Given the description of an element on the screen output the (x, y) to click on. 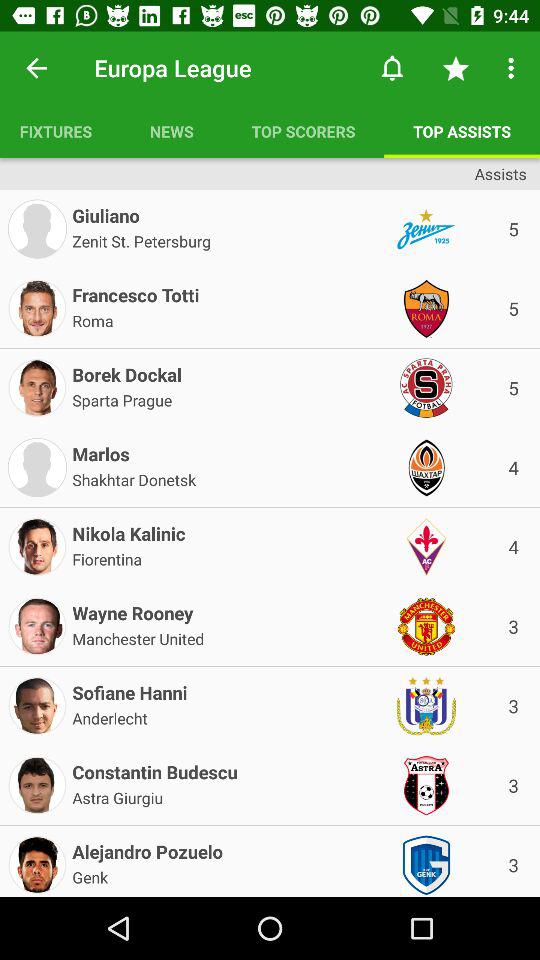
turn on top scorers item (303, 131)
